Given the description of an element on the screen output the (x, y) to click on. 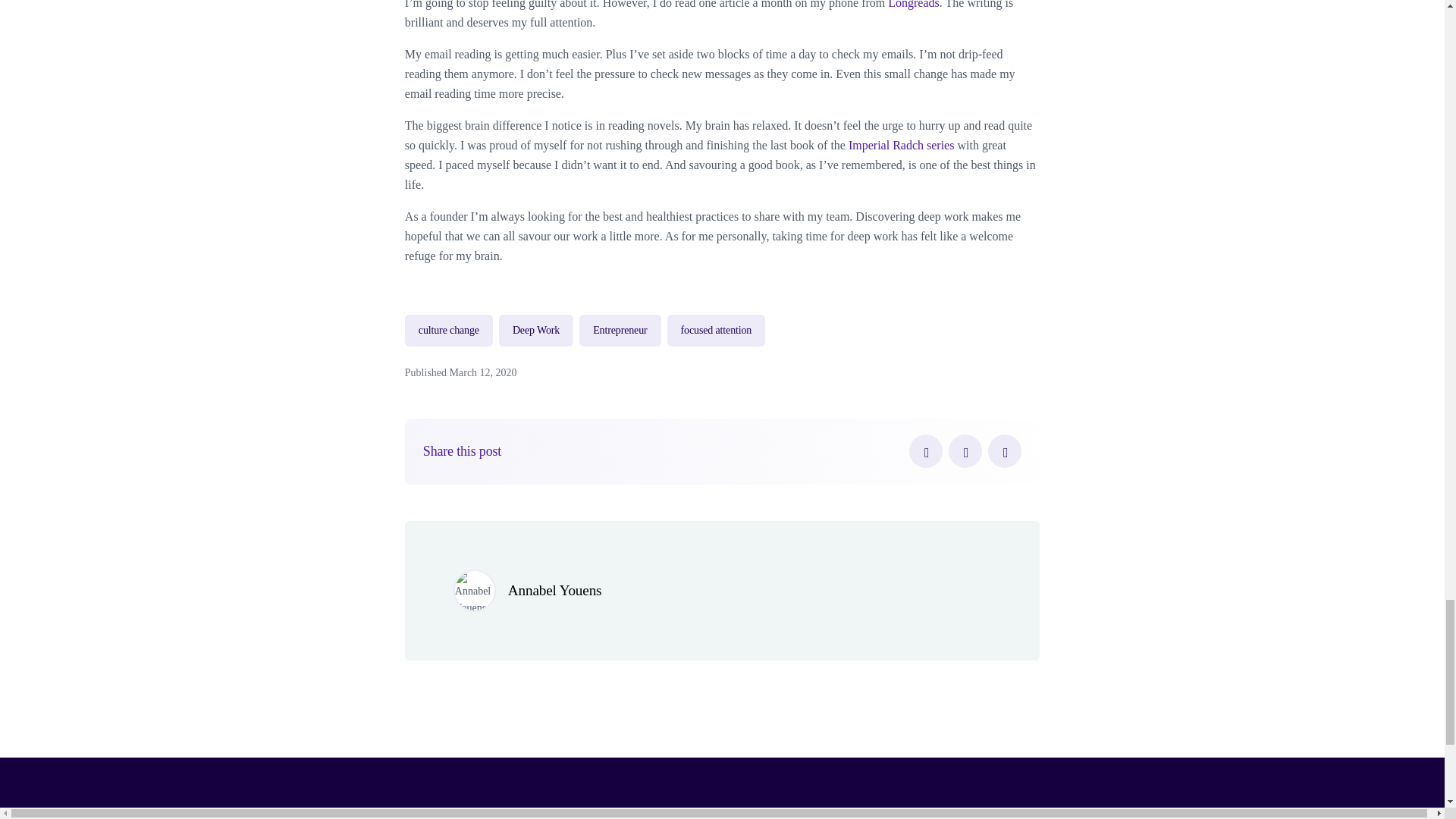
Facebook (925, 450)
Annabel Youens (555, 590)
Twitter (965, 450)
LinkedIn (1005, 450)
